Given the description of an element on the screen output the (x, y) to click on. 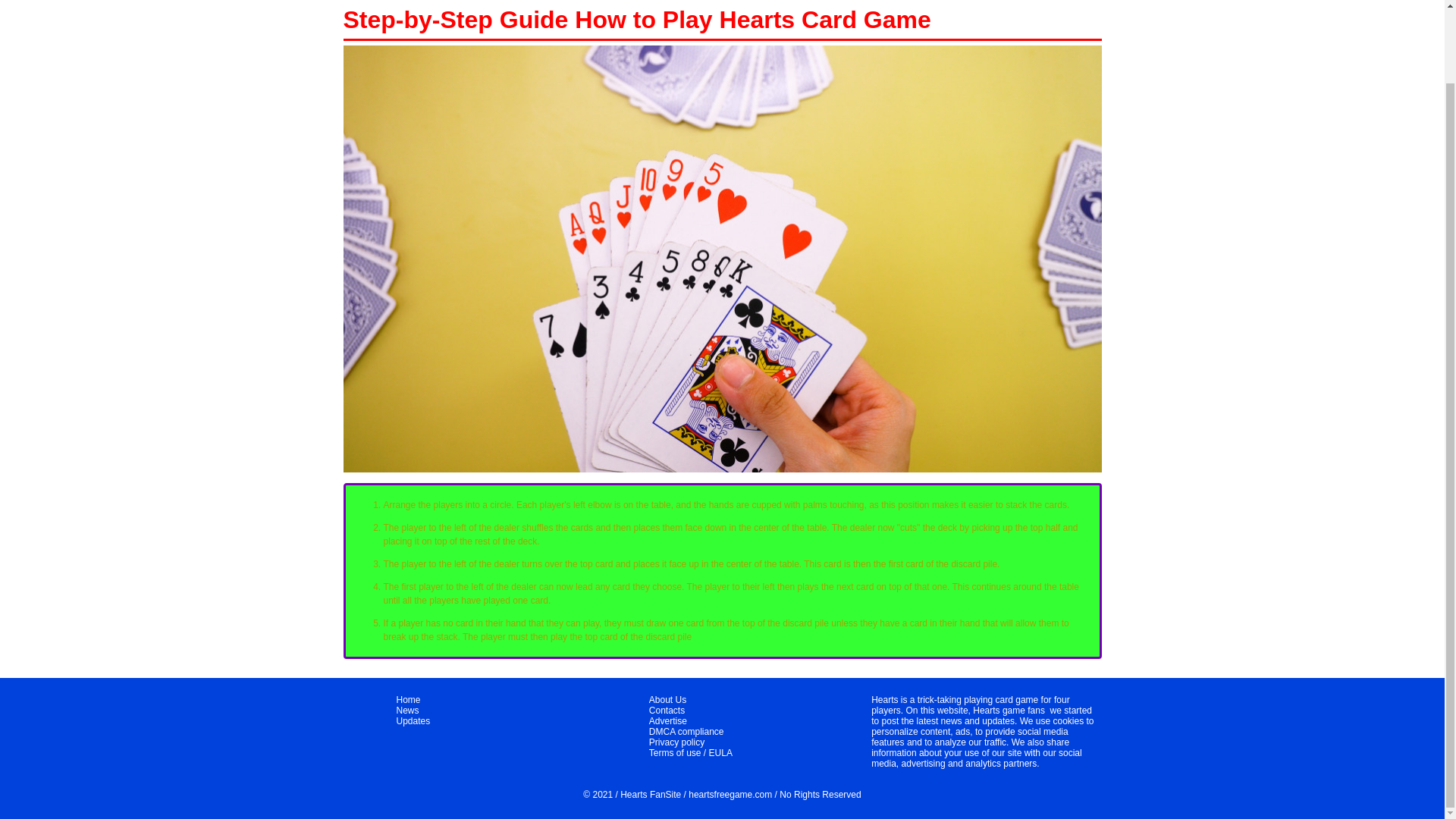
About Us (667, 699)
Privacy policy (676, 742)
Advertise (668, 720)
Home (408, 699)
Contacts (666, 710)
News (407, 710)
DMCA compliance (686, 731)
Updates (412, 720)
